Given the description of an element on the screen output the (x, y) to click on. 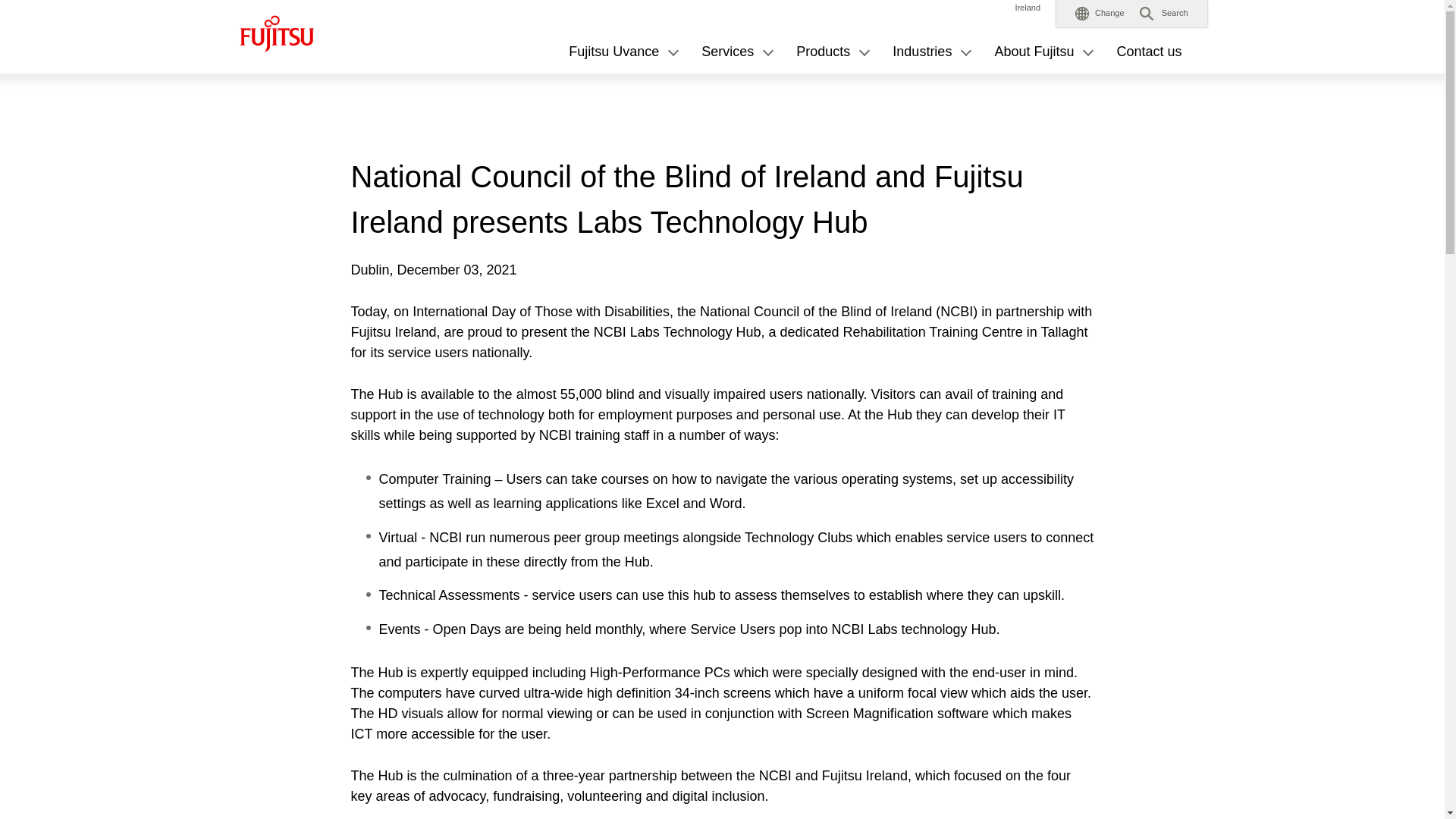
Change (1099, 13)
